Given the description of an element on the screen output the (x, y) to click on. 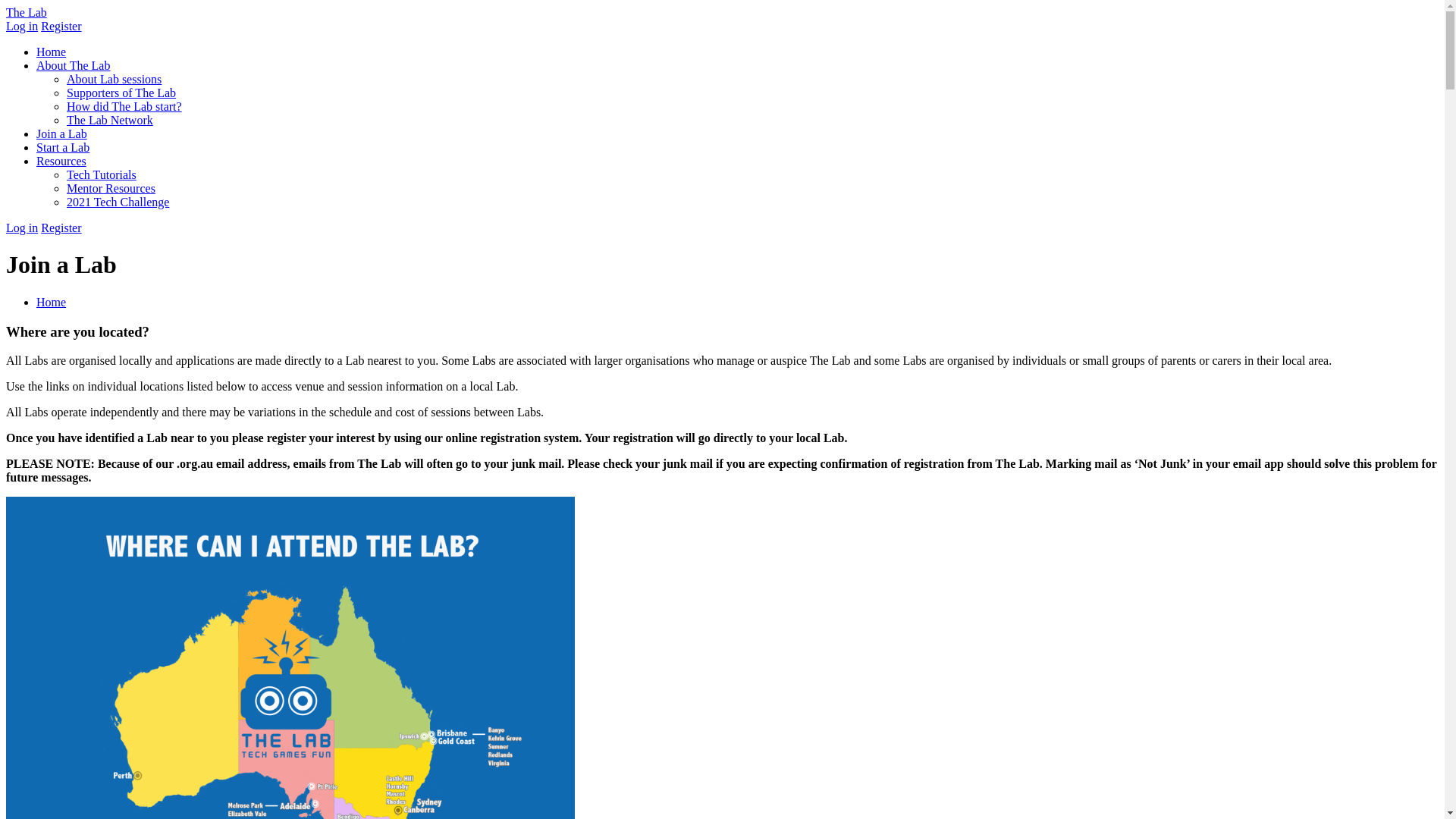
Log in Element type: text (21, 25)
Start a Lab Element type: text (62, 147)
Register Element type: text (60, 25)
2021 Tech Challenge Element type: text (117, 201)
Join a Lab Element type: text (61, 133)
Mentor Resources Element type: text (110, 188)
About The Lab Element type: text (72, 65)
Resources Element type: text (61, 160)
Tech Tutorials Element type: text (101, 174)
Home Element type: text (50, 51)
About Lab sessions Element type: text (113, 78)
How did The Lab start? Element type: text (124, 106)
The Lab Network Element type: text (109, 119)
Home Element type: text (50, 301)
Log in Element type: text (21, 227)
Register Element type: text (60, 227)
Supporters of The Lab Element type: text (120, 92)
The Lab Element type: text (26, 12)
